Given the description of an element on the screen output the (x, y) to click on. 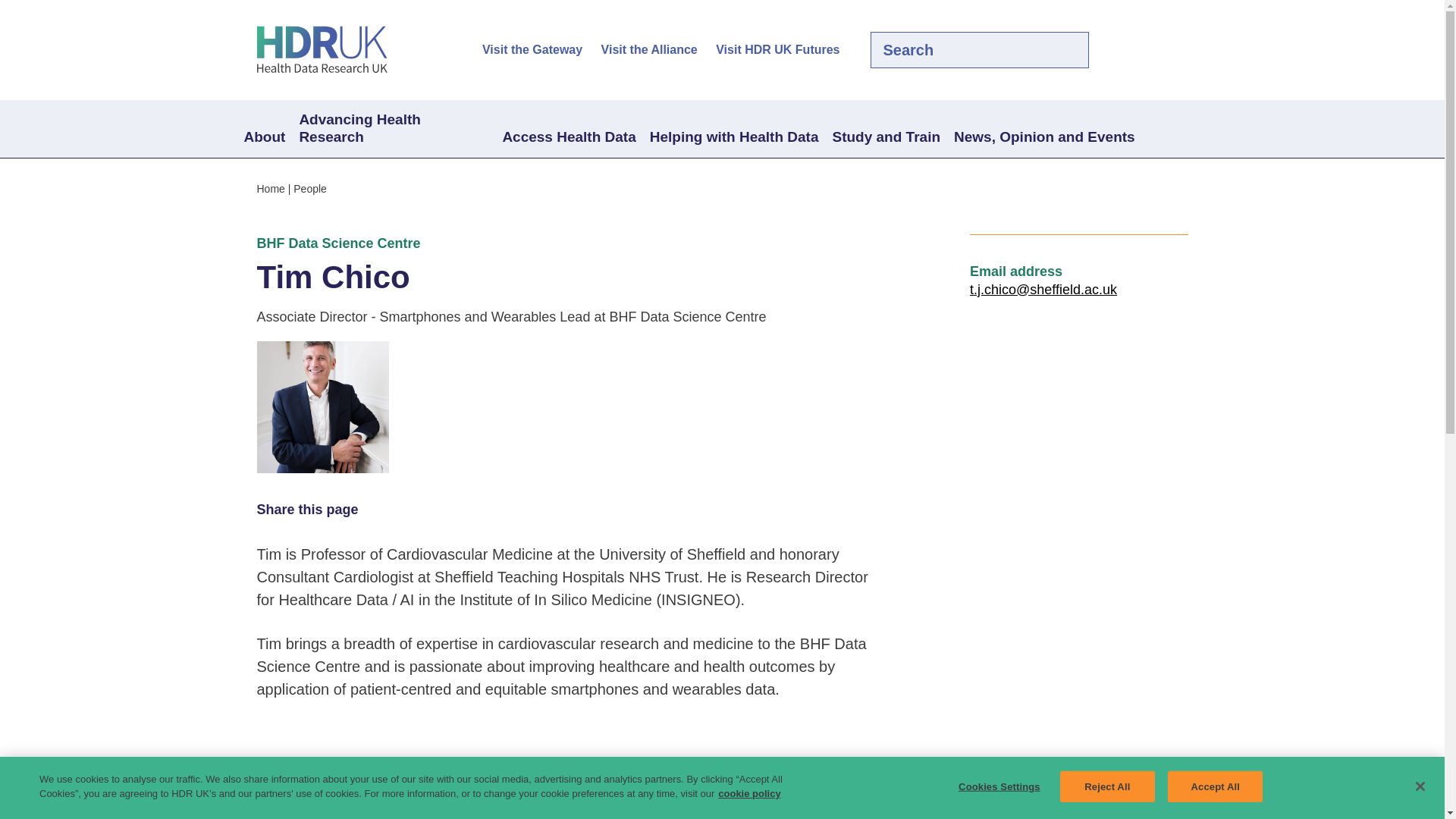
Visit the Alliance (649, 49)
Advancing Health Research (393, 128)
LinkedIn (1152, 50)
Helping with Health Data (734, 137)
YouTube (1179, 50)
Visit HDR UK Futures (778, 49)
Access Health Data (568, 137)
Twitter (1126, 50)
Visit the Gateway (531, 49)
About (263, 137)
Image of tim-chico (322, 407)
